Given the description of an element on the screen output the (x, y) to click on. 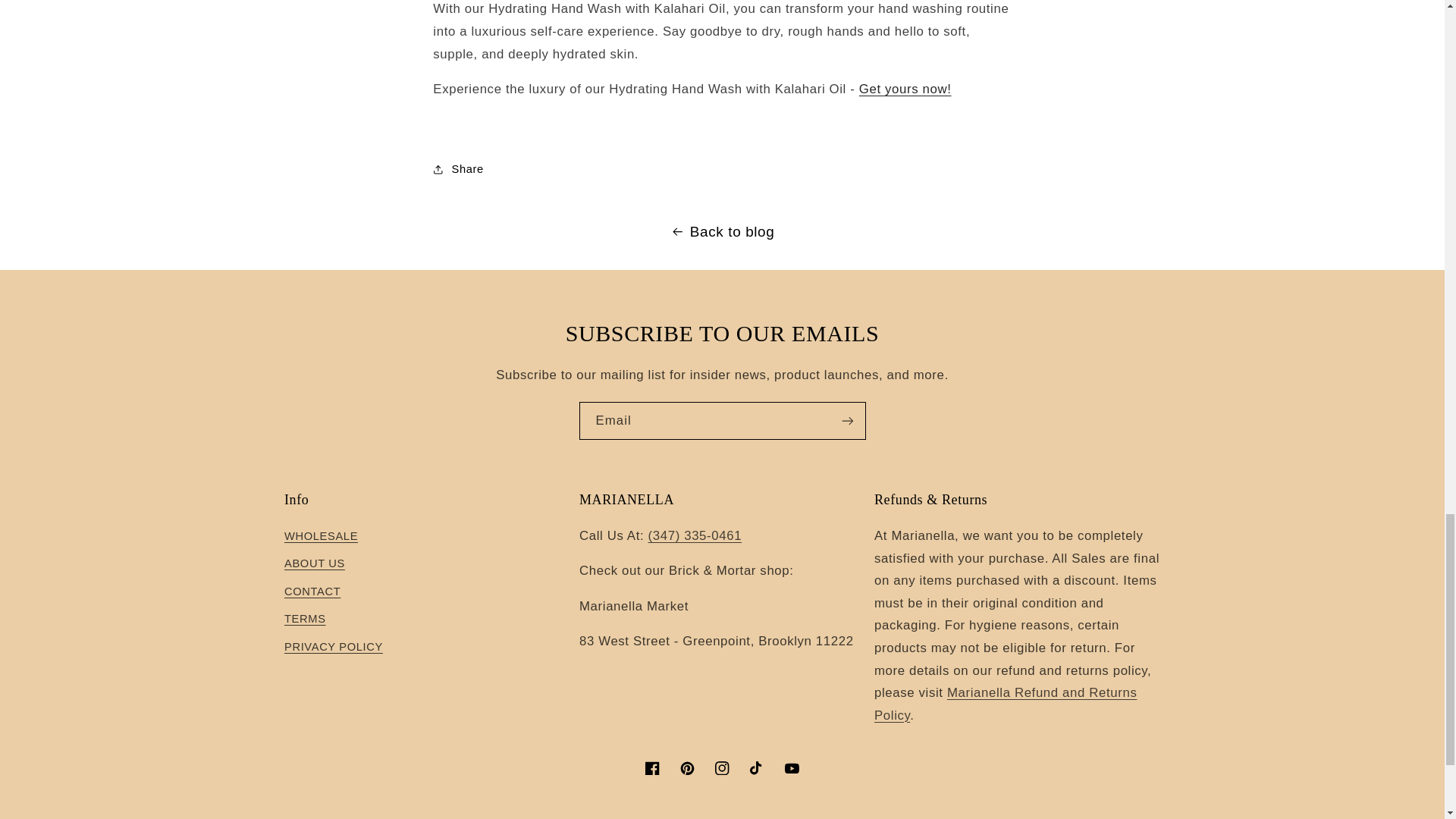
tel:347-335-0461 (694, 535)
